Given the description of an element on the screen output the (x, y) to click on. 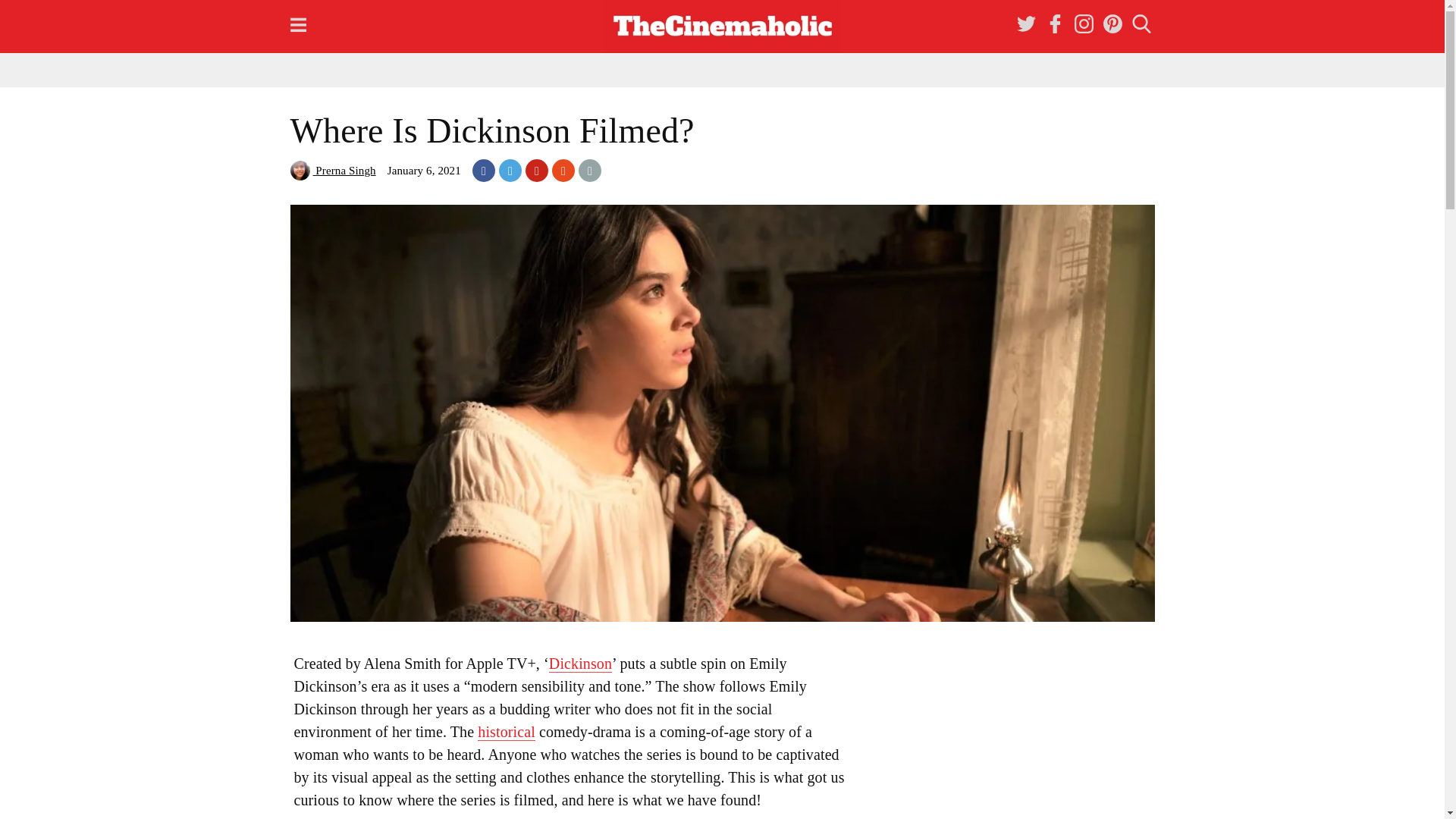
Dickinson (579, 663)
historical (506, 732)
Prerna Singh (332, 170)
